Given the description of an element on the screen output the (x, y) to click on. 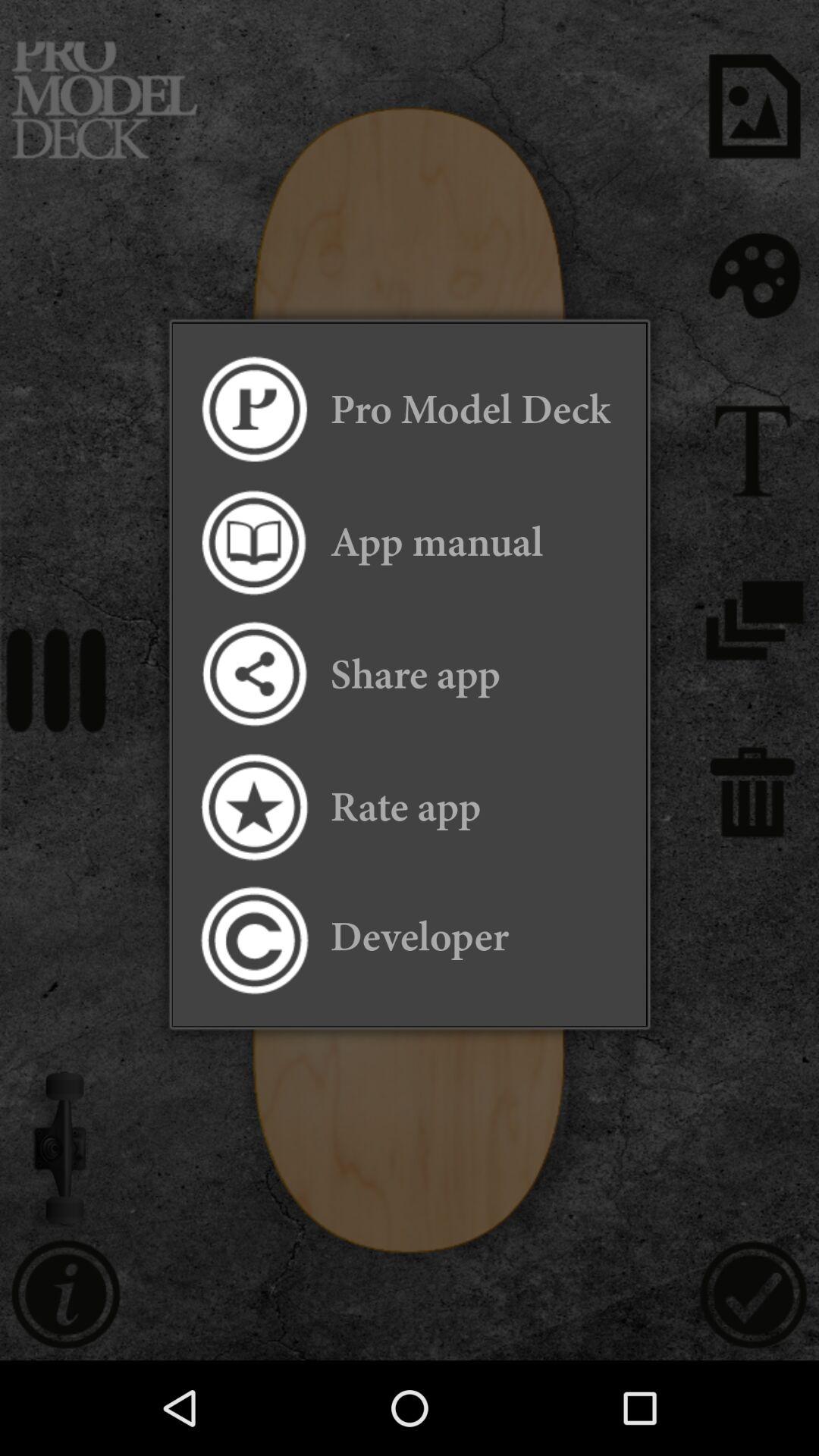
open pro model deck (253, 409)
